Given the description of an element on the screen output the (x, y) to click on. 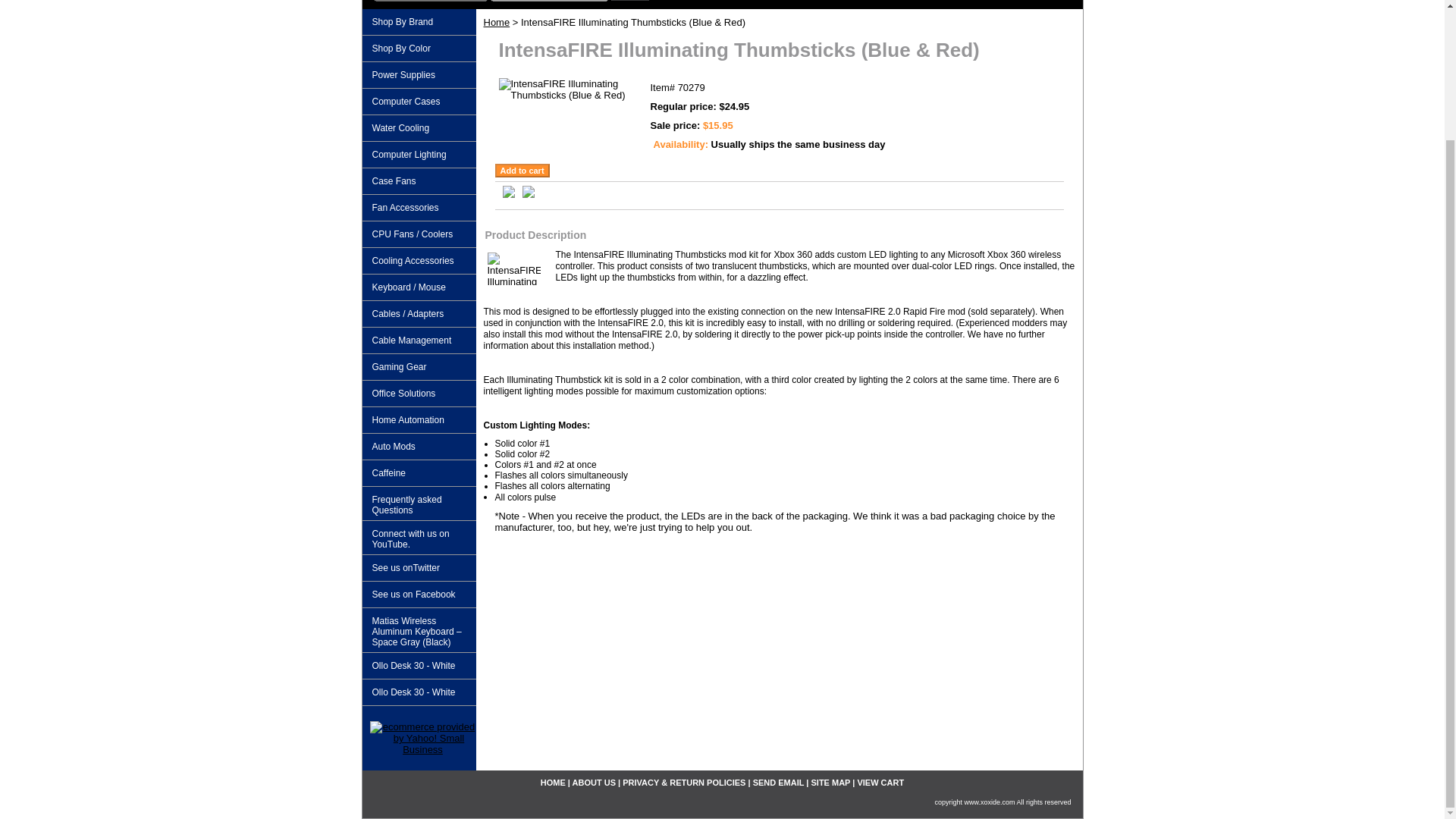
Computer Lighting (419, 154)
Computer Lighting (419, 154)
Case Fans (419, 181)
Home (497, 21)
Frequently asked Questions (419, 503)
Caffeine (419, 473)
Fan Accessories (419, 207)
Shop By Brand (419, 22)
Computer Cases (419, 101)
Add to cart (521, 170)
